Given the description of an element on the screen output the (x, y) to click on. 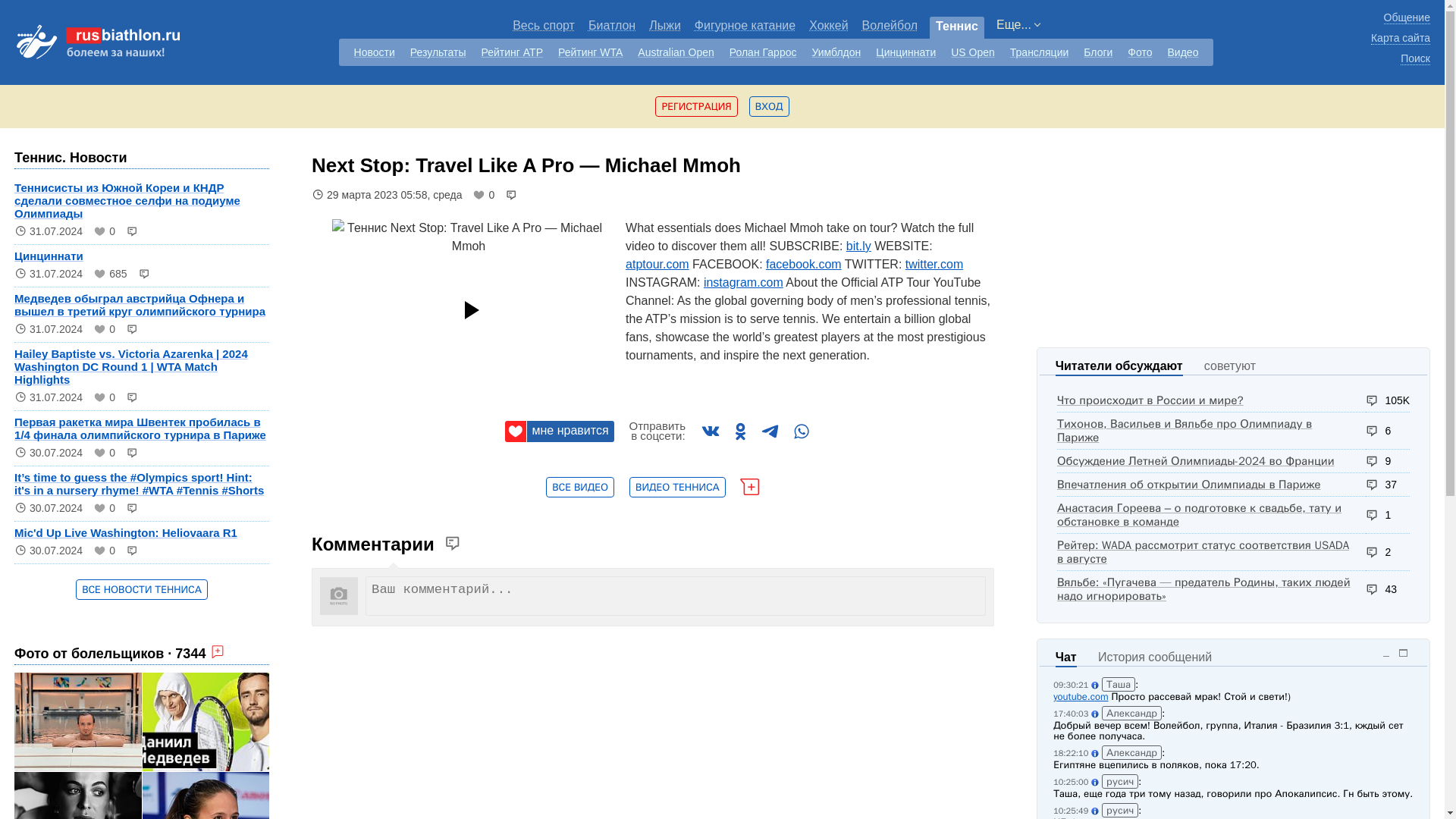
Australian Open (675, 51)
WhatsApp (801, 431)
US Open (972, 51)
